Given the description of an element on the screen output the (x, y) to click on. 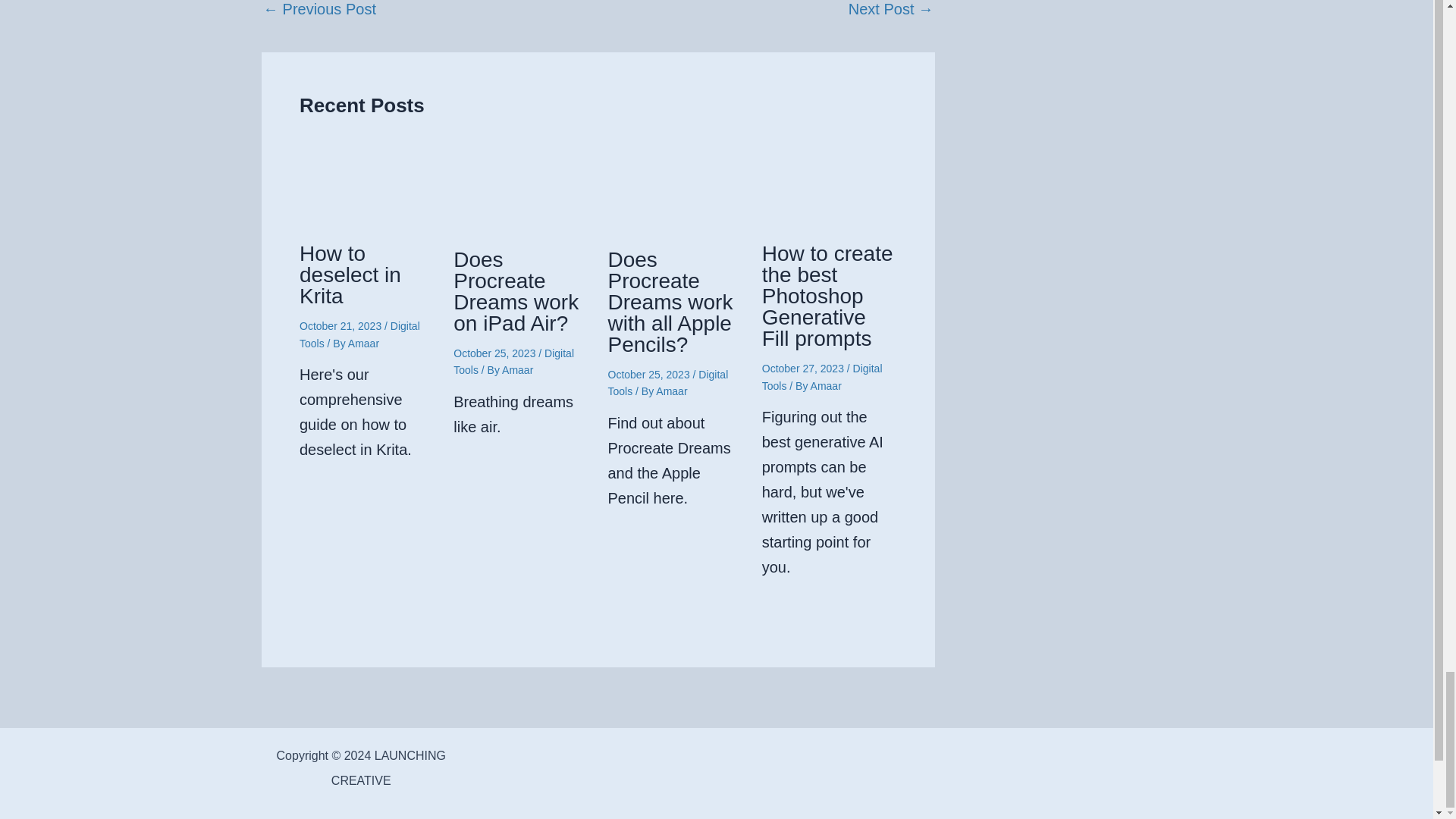
Digital Tools (359, 334)
View all posts by Amaar (671, 390)
Microsoft Copilot not working: how to fix (890, 8)
View all posts by Amaar (362, 343)
View all posts by Amaar (517, 369)
Procreate Dreams pre order guide (319, 8)
Digital Tools (821, 376)
Amaar (671, 390)
View all posts by Amaar (825, 386)
Digital Tools (512, 361)
